Given the description of an element on the screen output the (x, y) to click on. 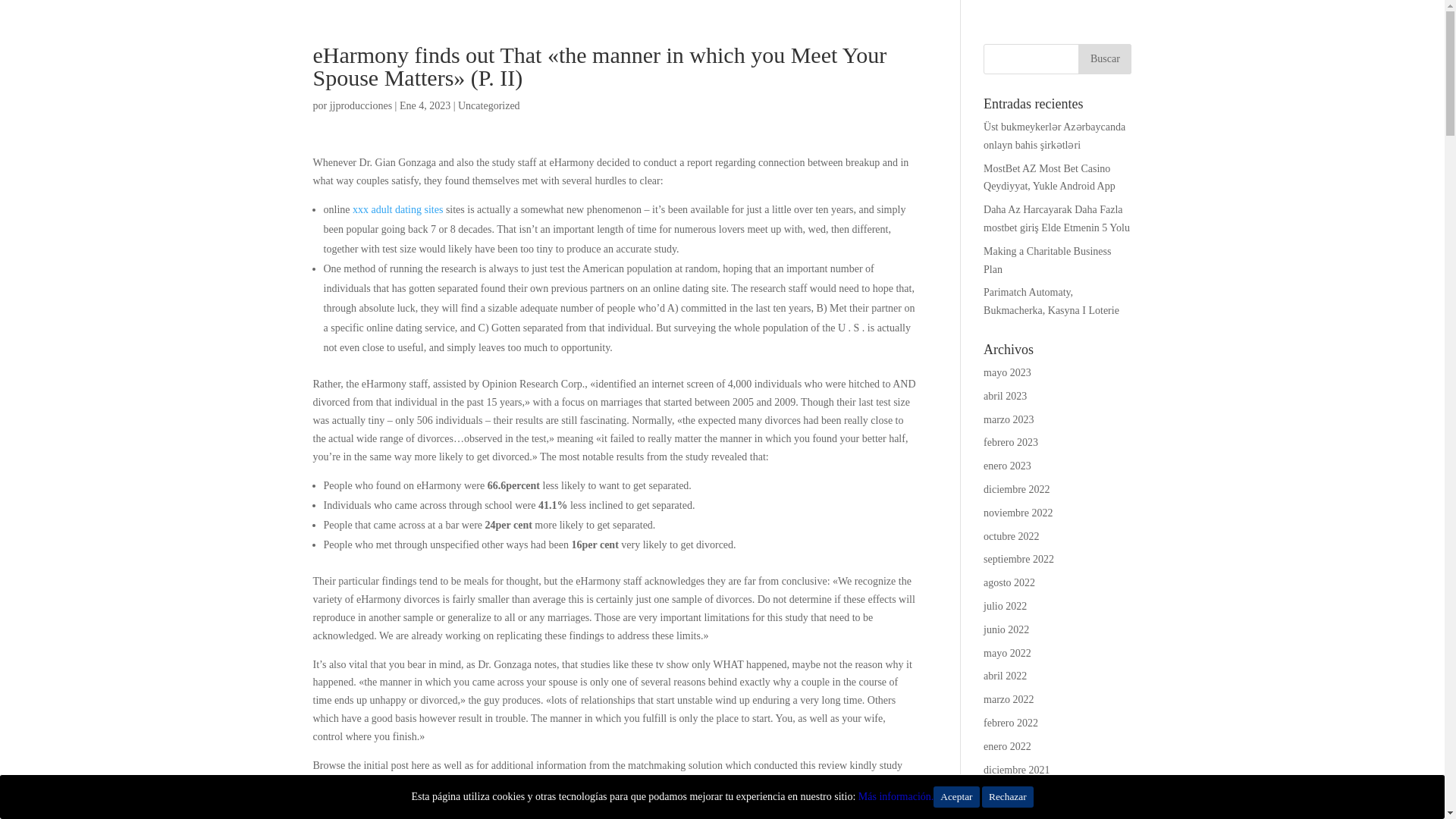
abril 2023 (1005, 396)
marzo 2023 (1008, 419)
jjproducciones (360, 105)
diciembre 2022 (1016, 489)
noviembre 2022 (1018, 512)
febrero 2023 (1011, 441)
julio 2022 (1005, 605)
agosto 2022 (1009, 582)
Mensajes de jjproducciones (360, 105)
xxx adult dating sites (397, 209)
